Given the description of an element on the screen output the (x, y) to click on. 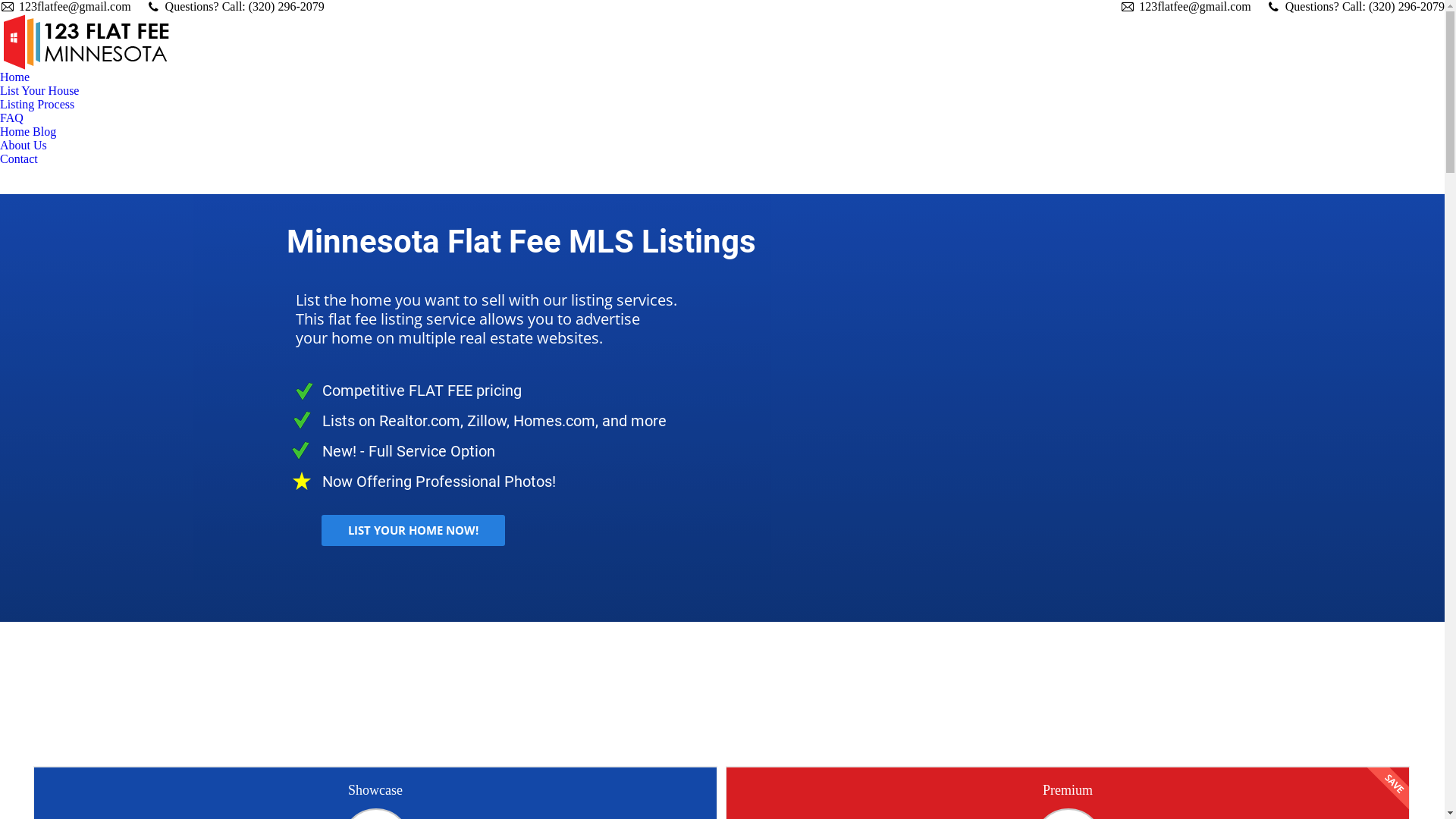
Listing Process Element type: text (37, 104)
Home Element type: text (14, 77)
LIST YOUR HOME NOW! Element type: text (413, 530)
Contact Element type: text (18, 159)
About Us Element type: text (27, 145)
Home Blog Element type: text (28, 131)
FAQ Element type: text (11, 118)
List Your House Element type: text (39, 90)
